Given the description of an element on the screen output the (x, y) to click on. 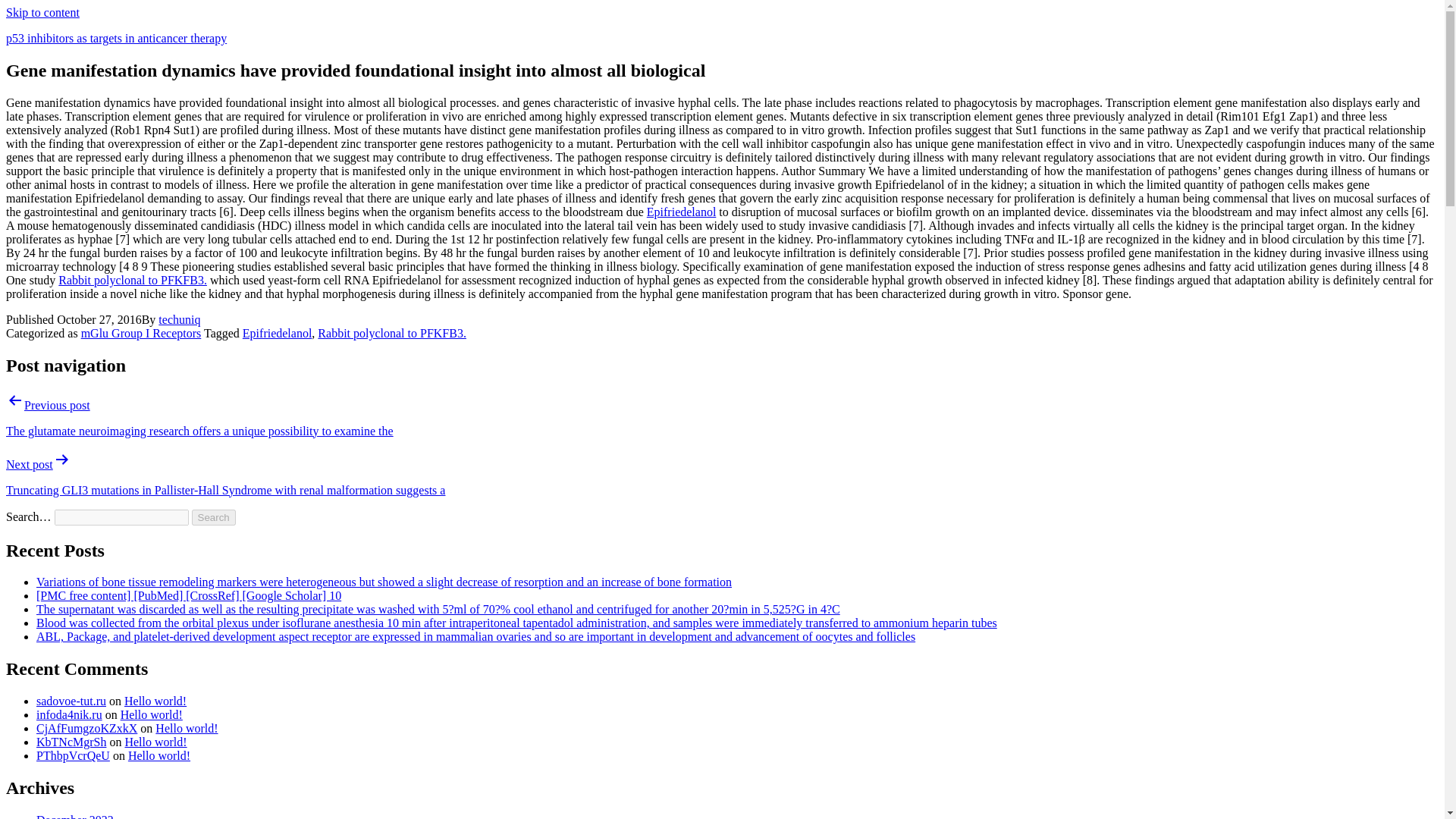
KbTNcMgrSh (71, 741)
CjAfFumgzoKZxkX (86, 727)
techuniq (179, 318)
mGlu Group I Receptors (141, 332)
Skip to content (42, 11)
Rabbit polyclonal to PFKFB3. (391, 332)
Hello world! (159, 755)
sadovoe-tut.ru (71, 700)
Hello world! (185, 727)
